Given the description of an element on the screen output the (x, y) to click on. 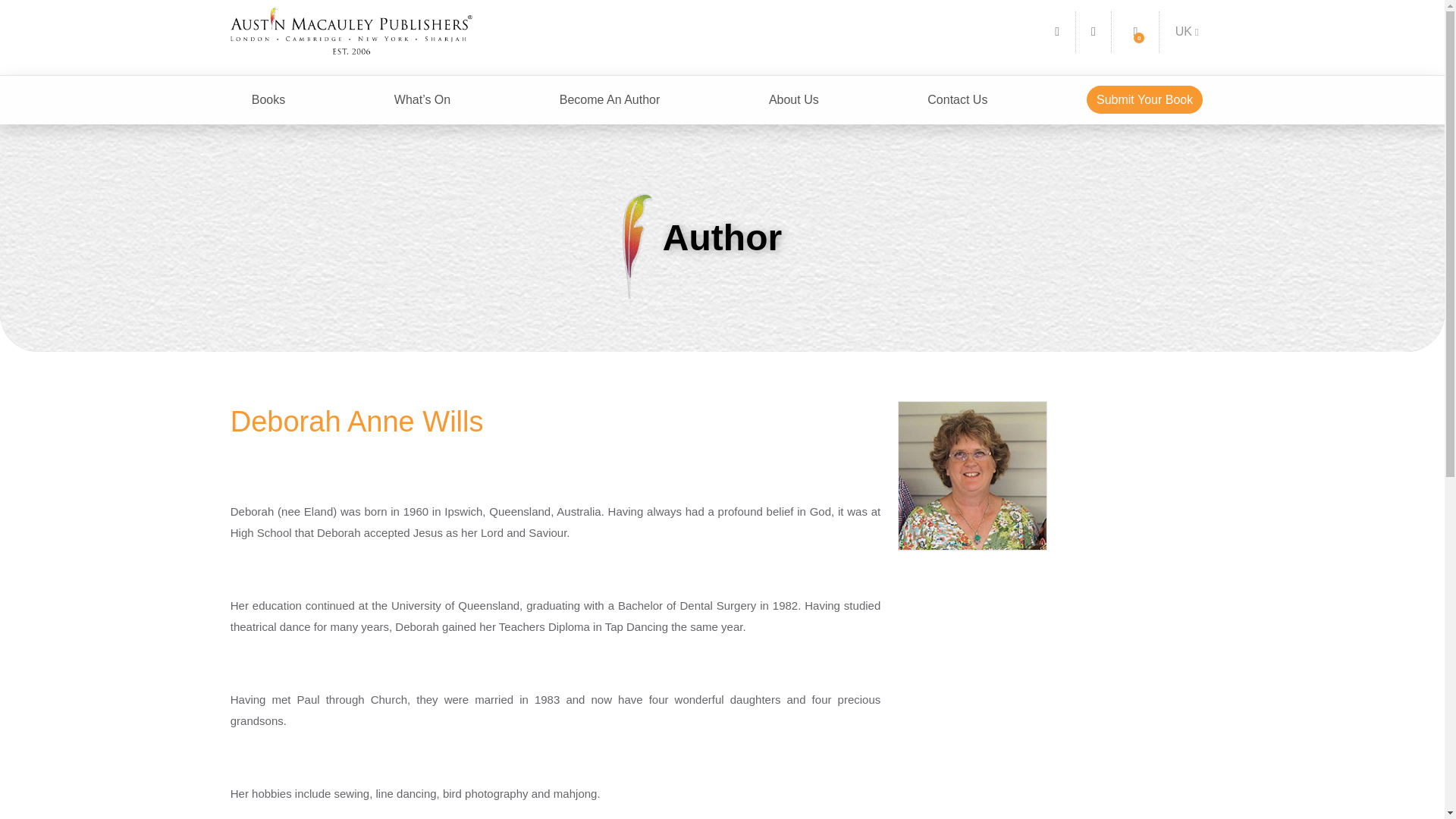
Deborah Anne Wills (973, 476)
Books (268, 99)
UK (1187, 31)
Branch (1187, 31)
